Given the description of an element on the screen output the (x, y) to click on. 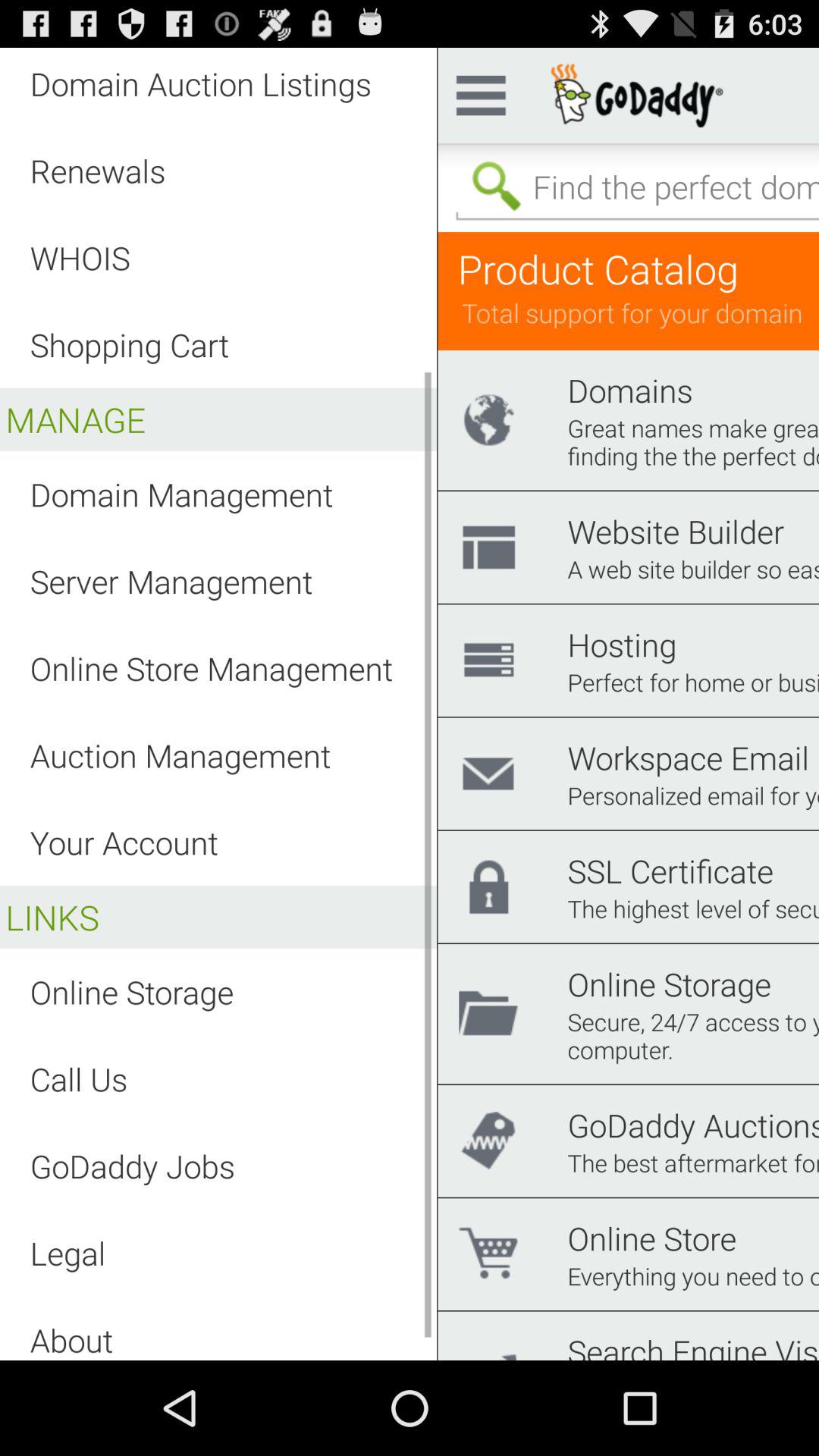
select the icon above online store management (171, 580)
